Given the description of an element on the screen output the (x, y) to click on. 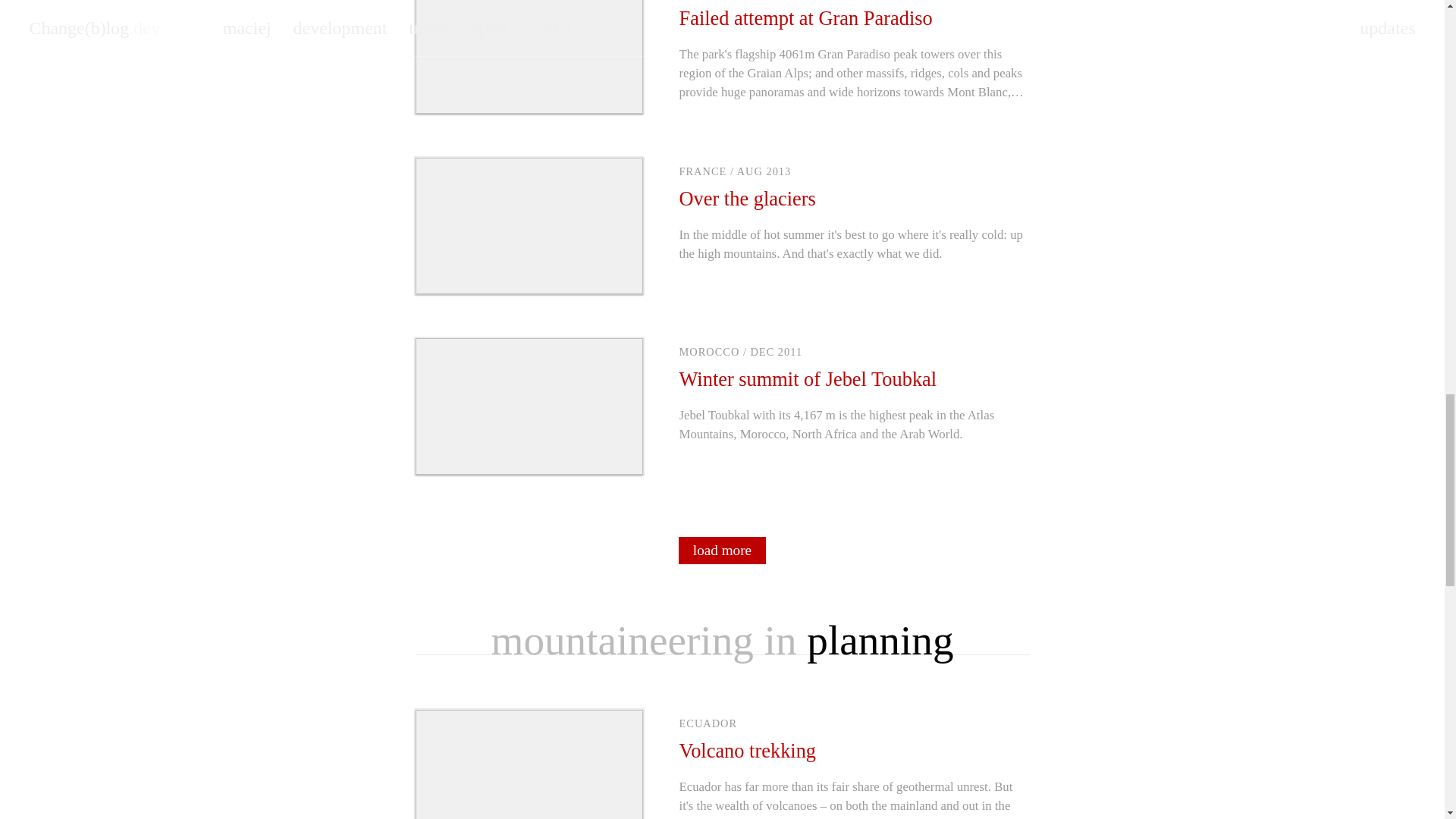
Winter summit of Jebel Toubkal (808, 378)
Volcano trekking (747, 750)
Over the glaciers (747, 198)
ECUADOR (708, 723)
Failed attempt at Gran Paradiso (806, 17)
load more (722, 550)
FRANCE (702, 171)
MOROCCO (709, 351)
